Given the description of an element on the screen output the (x, y) to click on. 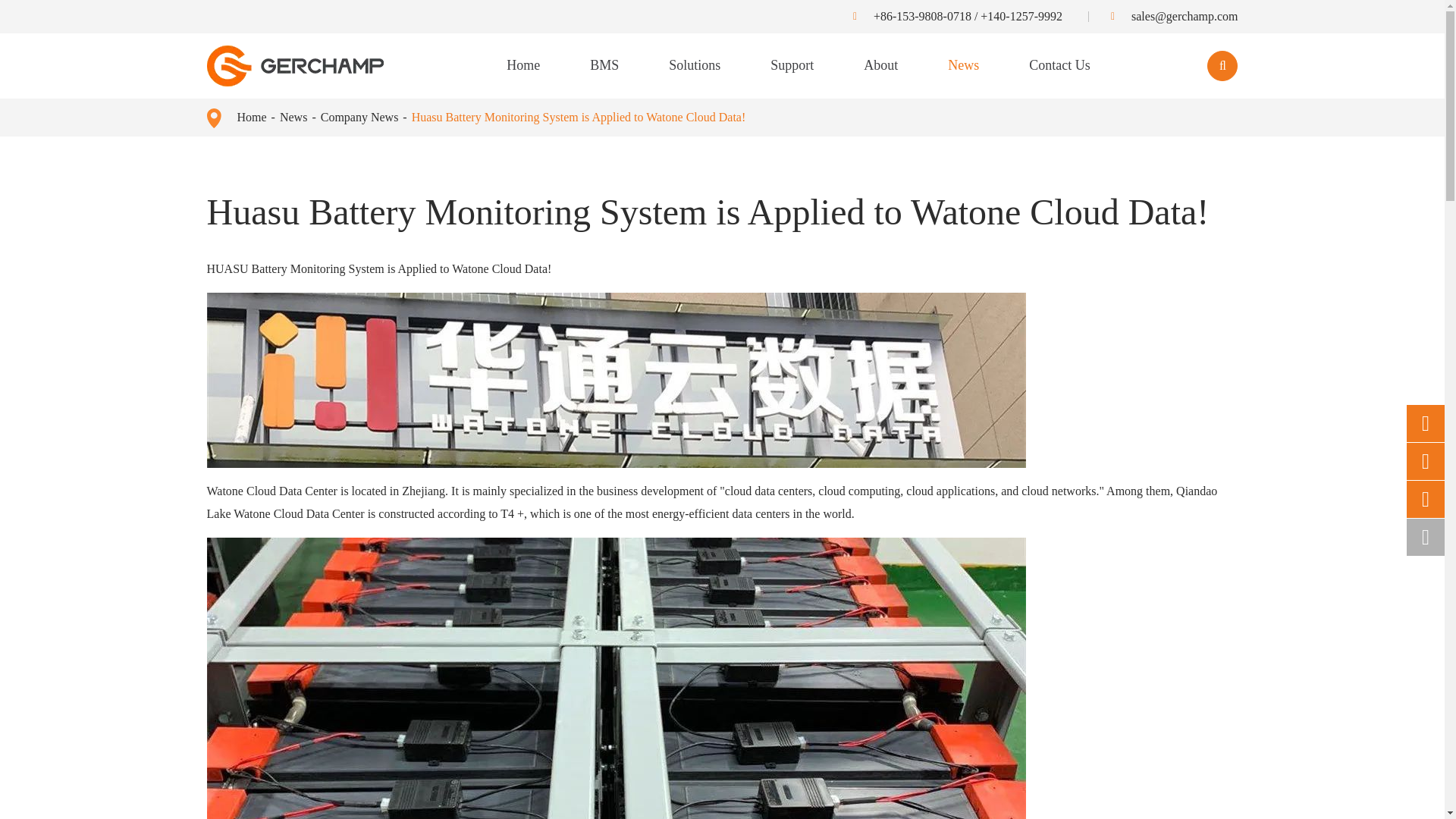
Company News (359, 116)
News (293, 116)
Contact Us (1059, 65)
